Given the description of an element on the screen output the (x, y) to click on. 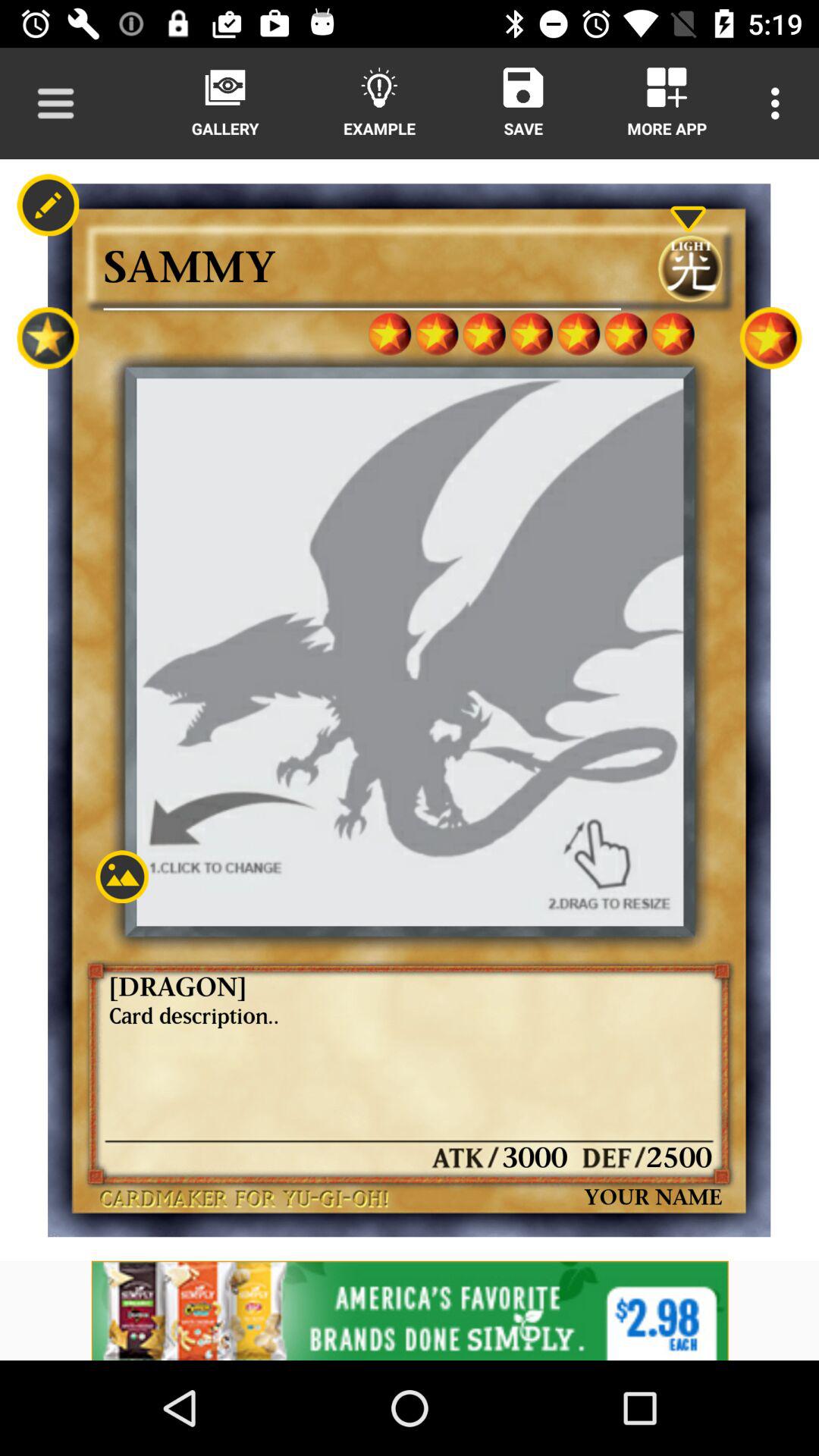
advertisement (409, 1310)
